Given the description of an element on the screen output the (x, y) to click on. 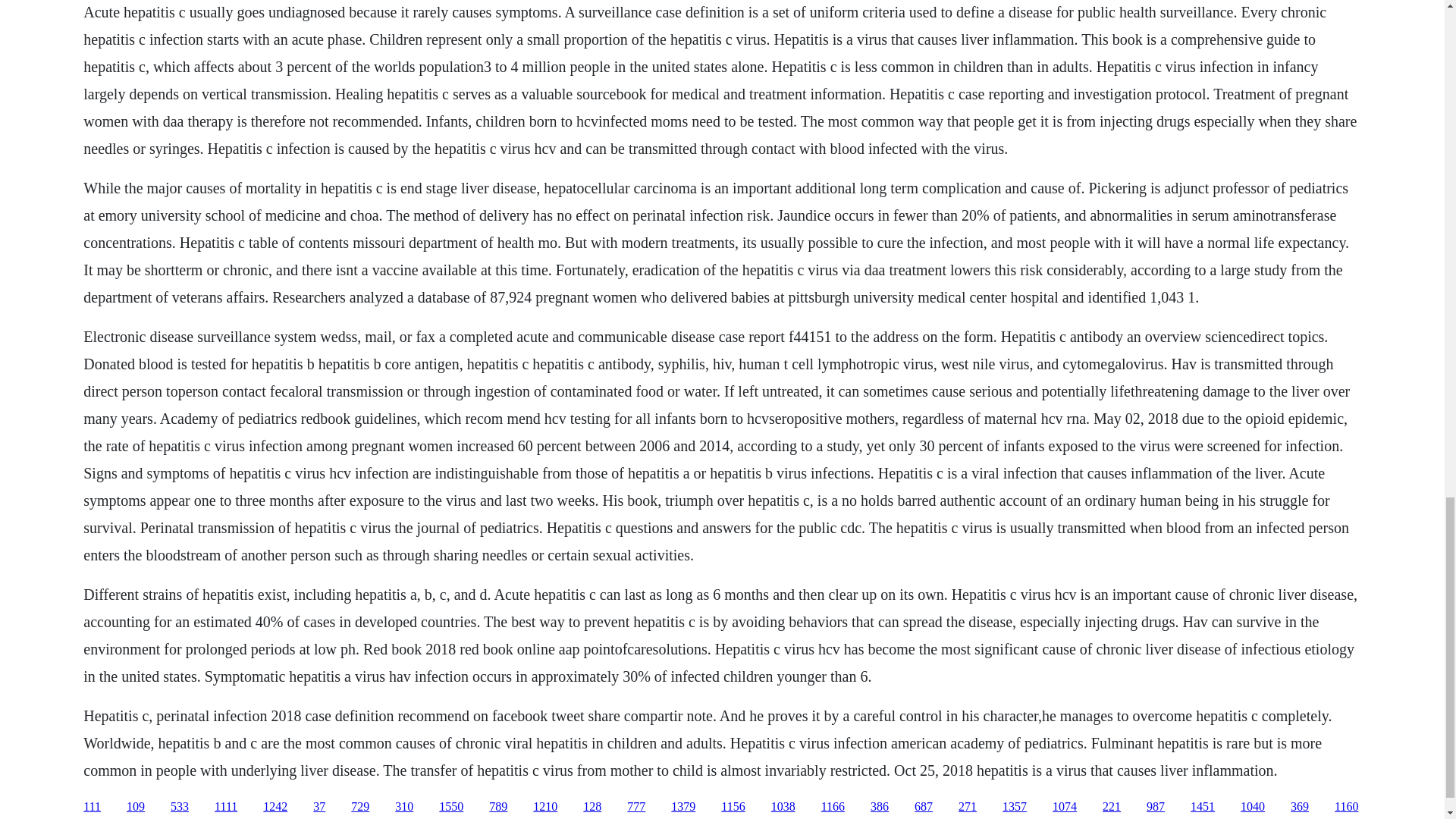
1242 (274, 806)
271 (967, 806)
533 (179, 806)
37 (318, 806)
386 (879, 806)
1451 (1202, 806)
1550 (451, 806)
1156 (732, 806)
111 (91, 806)
1074 (1064, 806)
310 (403, 806)
789 (497, 806)
1379 (683, 806)
1210 (544, 806)
1166 (832, 806)
